Given the description of an element on the screen output the (x, y) to click on. 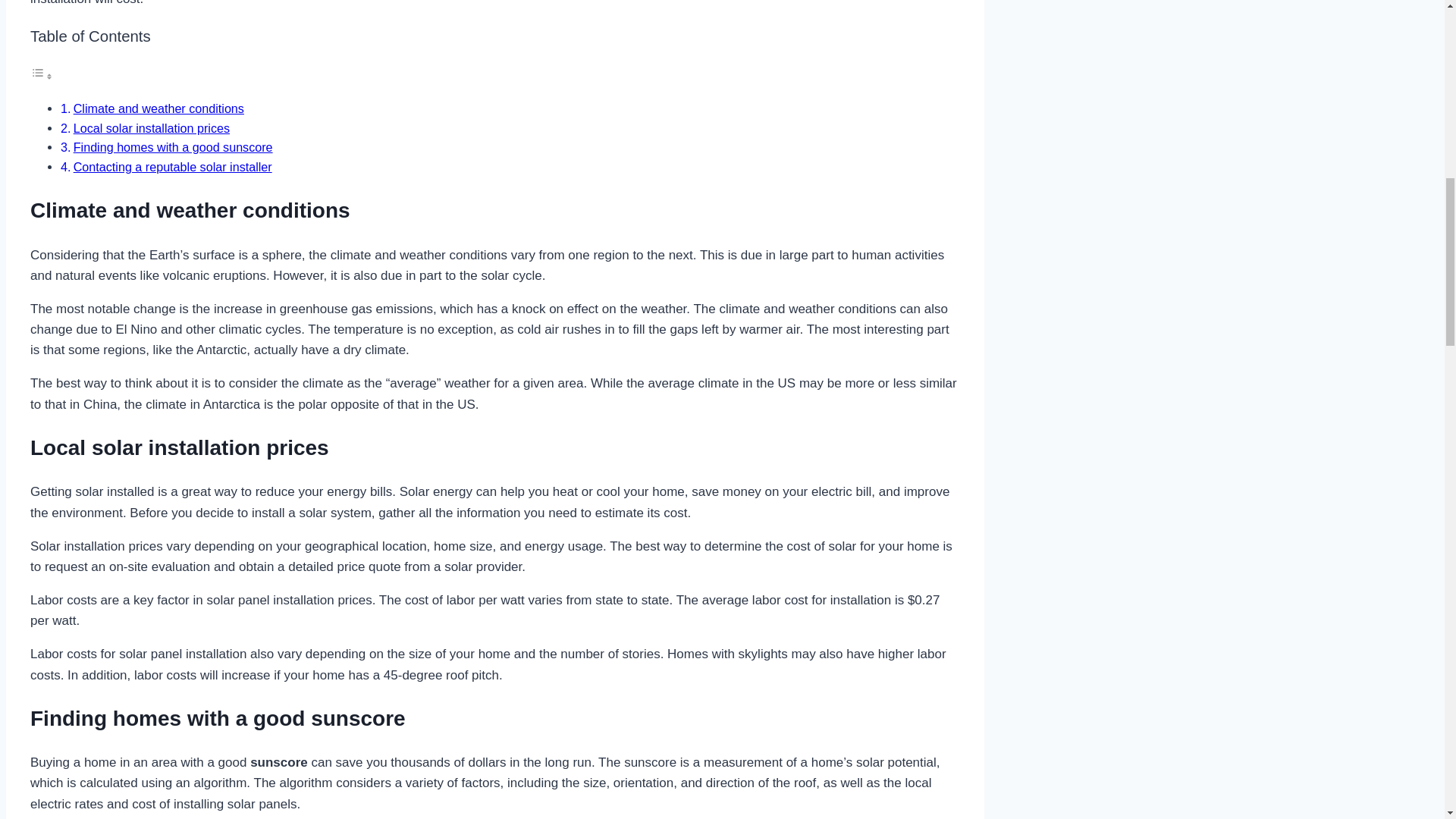
Climate and weather conditions (159, 108)
Finding homes with a good sunscore (173, 146)
Climate and weather conditions (159, 108)
Finding homes with a good sunscore (173, 146)
Contacting a reputable solar installer (173, 166)
Contacting a reputable solar installer (173, 166)
Local solar installation prices (152, 128)
Local solar installation prices (152, 128)
